Given the description of an element on the screen output the (x, y) to click on. 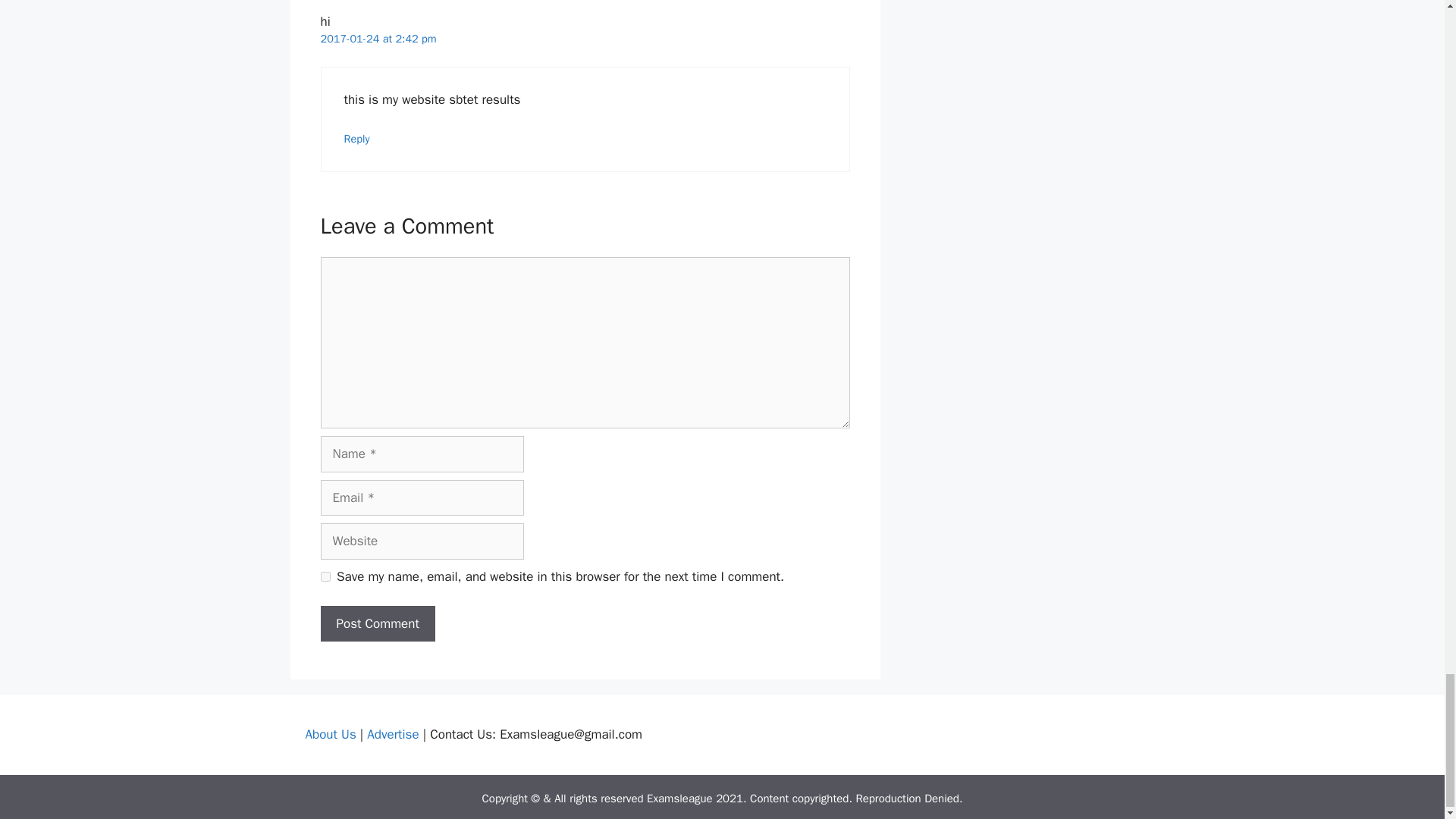
Post Comment (376, 624)
yes (325, 576)
